Given the description of an element on the screen output the (x, y) to click on. 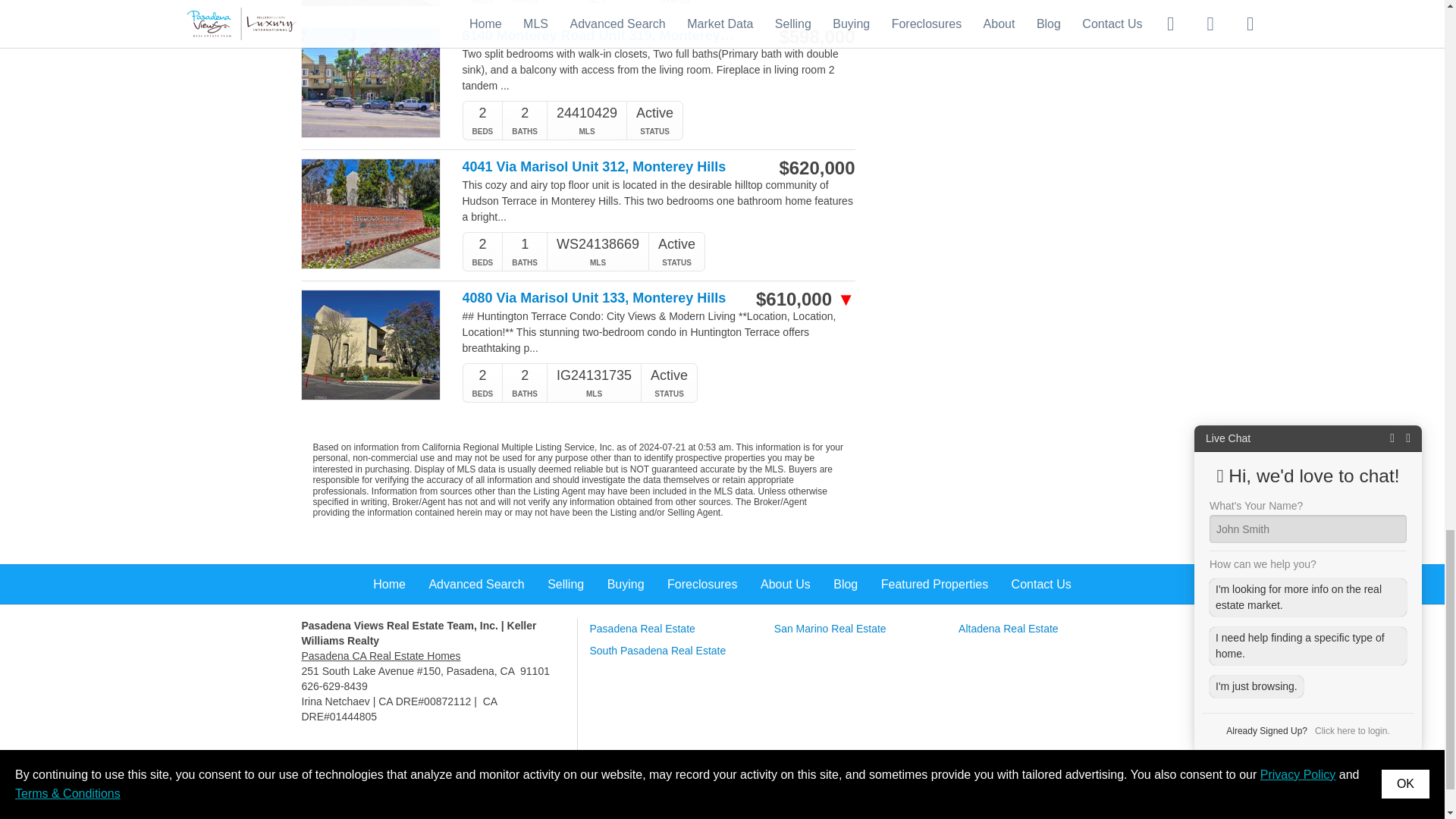
4080 Via Marisol Unit 133, Monterey Hills (600, 298)
4041 Via Marisol Unit 312, Monterey Hills (600, 166)
Pasadena Views Real Estate Team - Pasadena Homes for Sale (381, 655)
6140 Monterey Road Unit 319, Monterey Hills (600, 35)
